Given the description of an element on the screen output the (x, y) to click on. 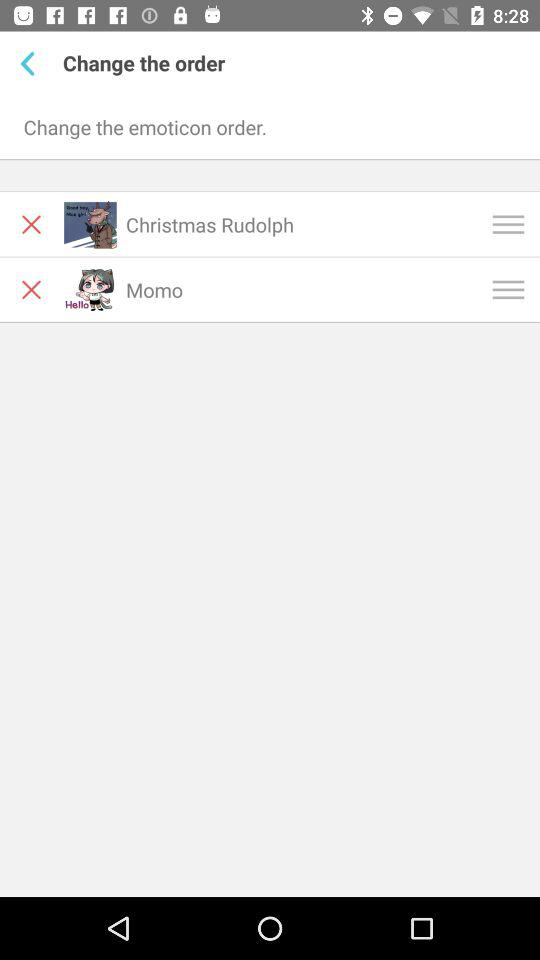
go back (31, 63)
